Given the description of an element on the screen output the (x, y) to click on. 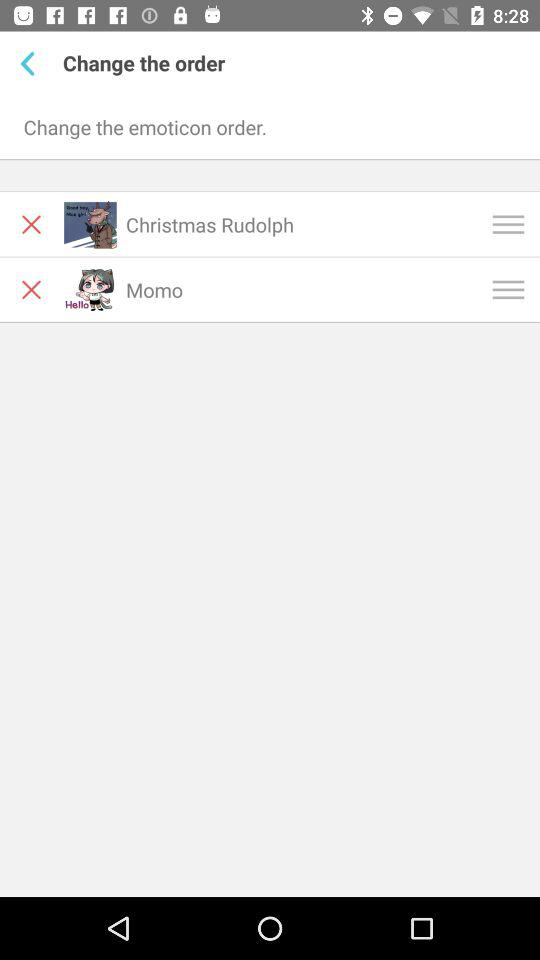
go back (31, 63)
